Given the description of an element on the screen output the (x, y) to click on. 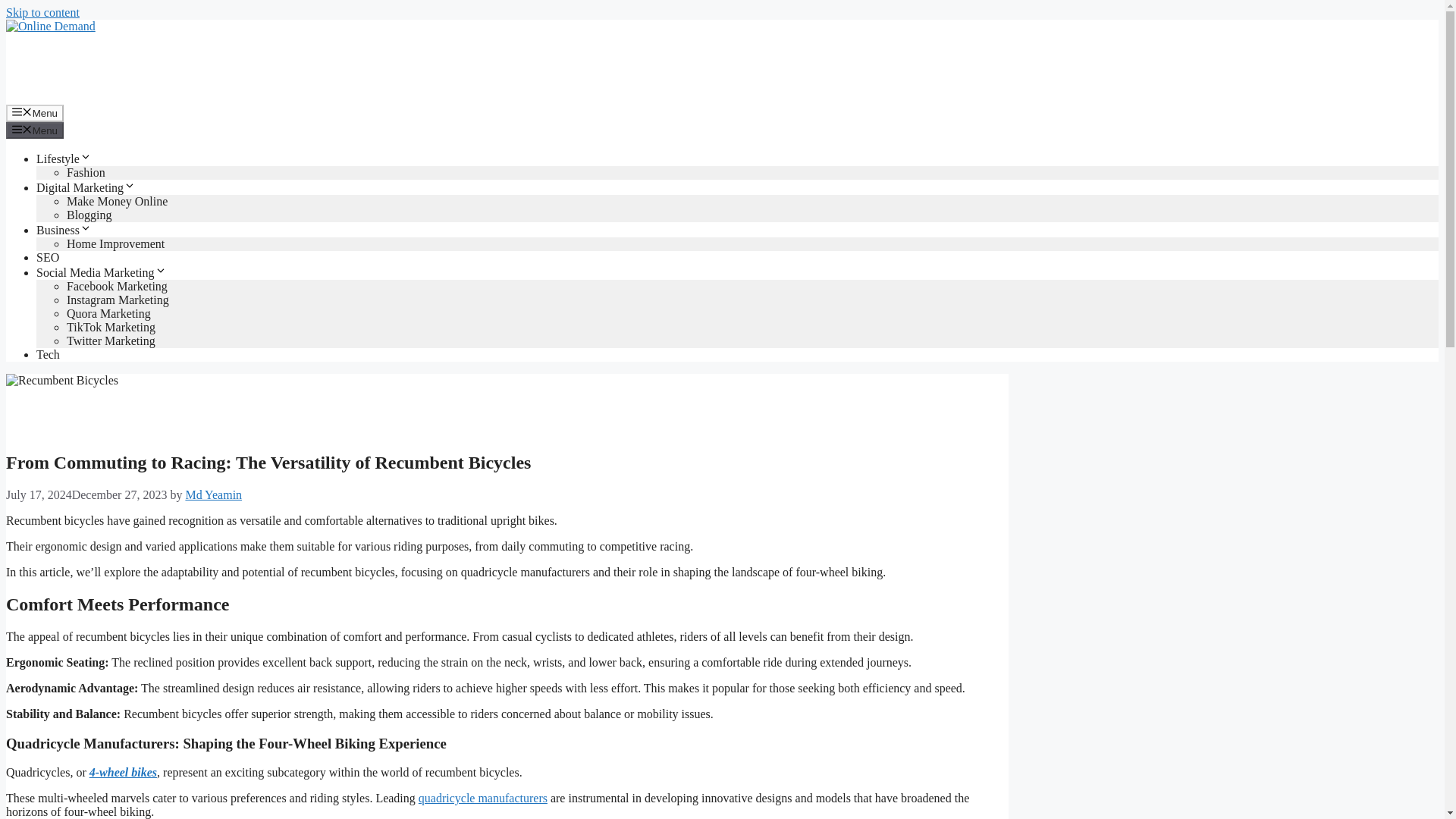
Social Media Marketing (101, 272)
4-wheel bikes (122, 771)
Home Improvement (115, 243)
Menu (34, 112)
Quora Marketing (108, 313)
SEO (47, 256)
TikTok Marketing (110, 327)
Skip to content (42, 11)
Business (63, 229)
Digital Marketing (85, 187)
View all posts by Md Yeamin (212, 494)
Lifestyle (63, 158)
Facebook Marketing (116, 286)
quadricycle manufacturers (483, 797)
Menu (34, 130)
